Given the description of an element on the screen output the (x, y) to click on. 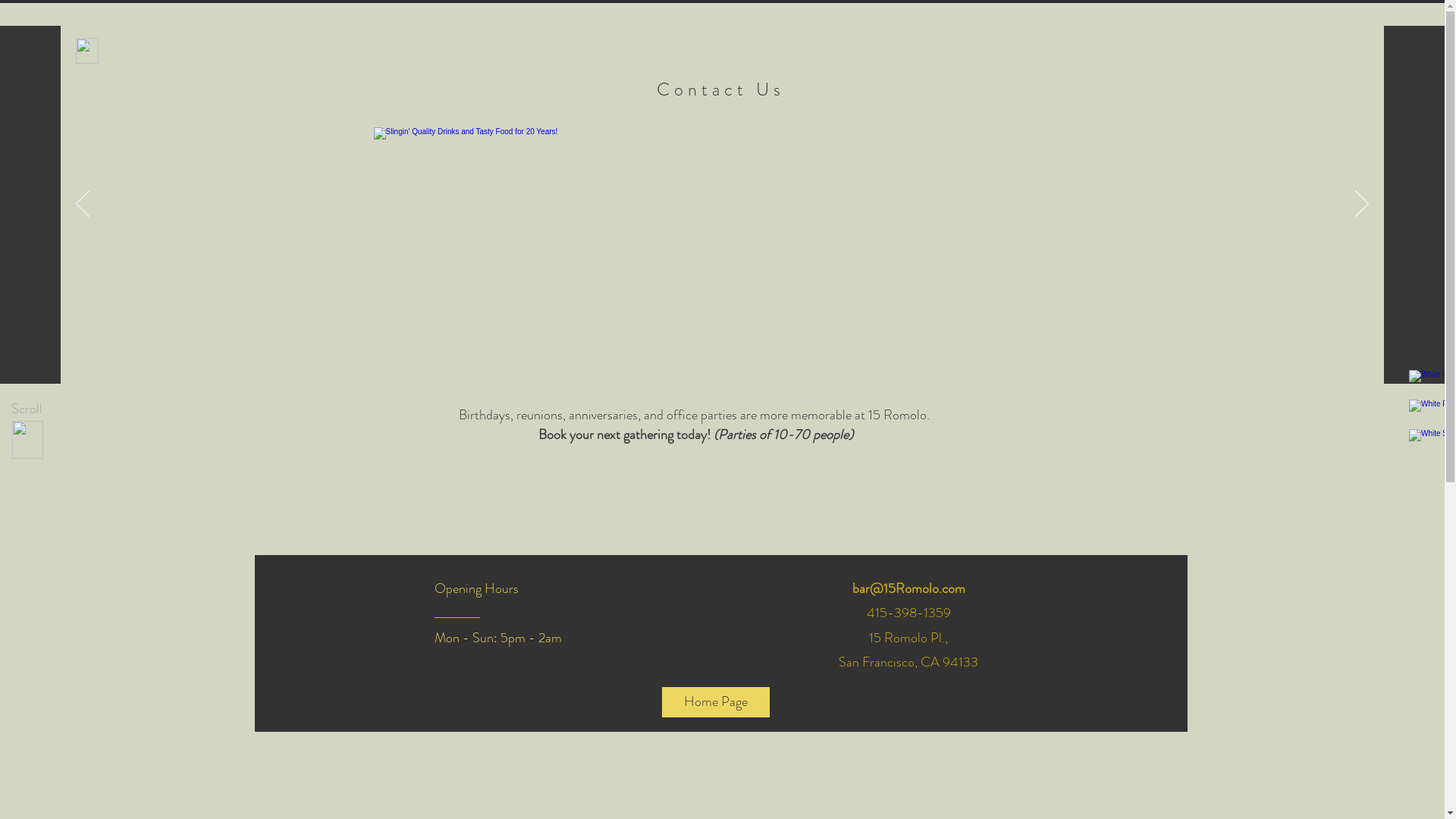
Scroll Element type: text (26, 408)
bar@15Romolo.com Element type: text (908, 588)
Home Page Element type: text (714, 702)
